Given the description of an element on the screen output the (x, y) to click on. 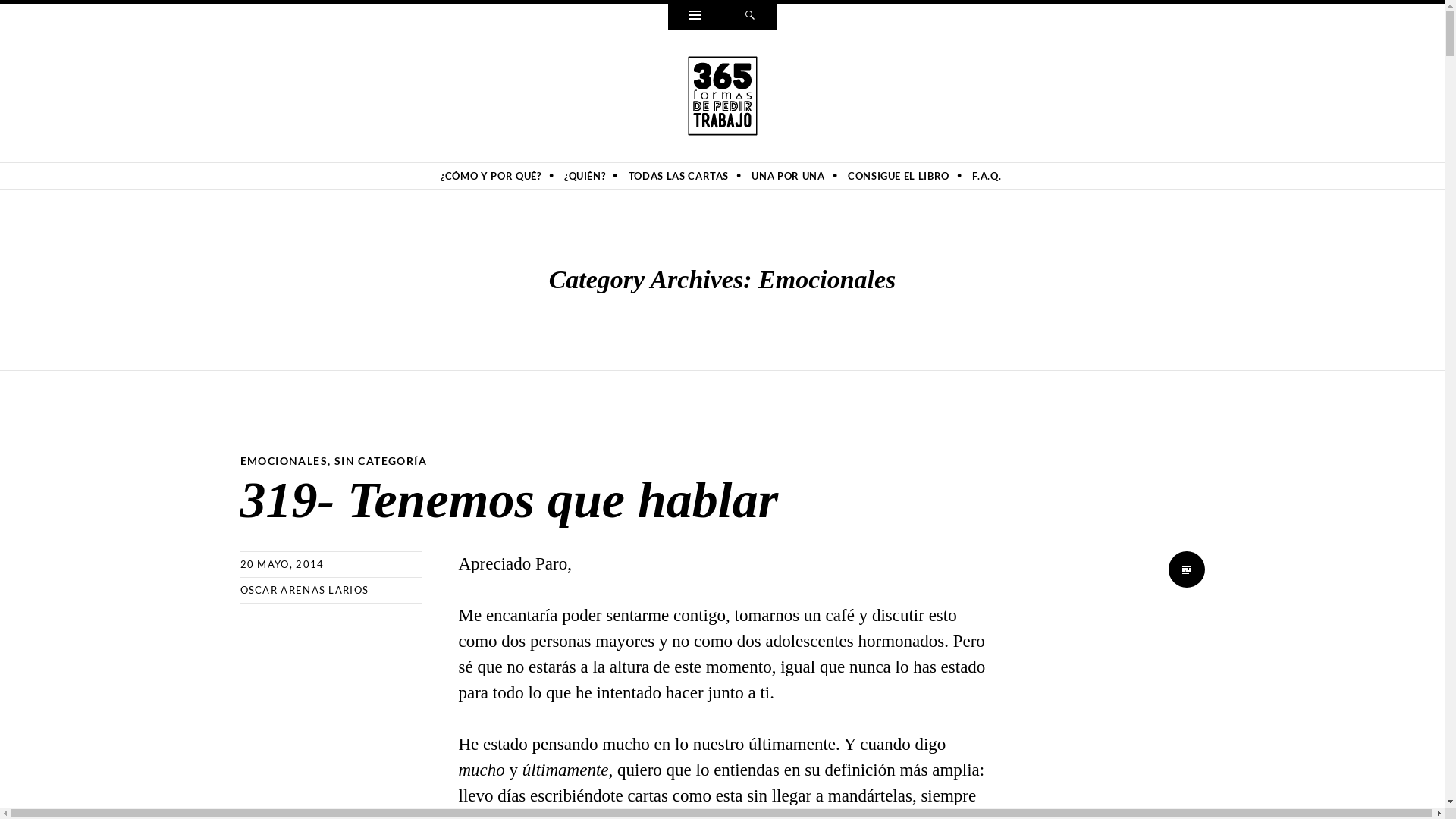
OSCAR ARENAS LARIOS Element type: text (303, 589)
319- Tenemos que hablar Element type: text (508, 499)
20 MAYO, 2014 Element type: text (281, 564)
Search Element type: text (748, 16)
365 FORMAS DE PEDIR TRABAJO Element type: text (395, 148)
EMOCIONALES Element type: text (282, 460)
F.A.Q. Element type: text (986, 175)
Widgets Element type: text (694, 16)
365 formas de pedir trabajo Element type: hover (722, 93)
TODAS LAS CARTAS Element type: text (678, 175)
UNA POR UNA Element type: text (787, 175)
CONSIGUE EL LIBRO Element type: text (898, 175)
